Given the description of an element on the screen output the (x, y) to click on. 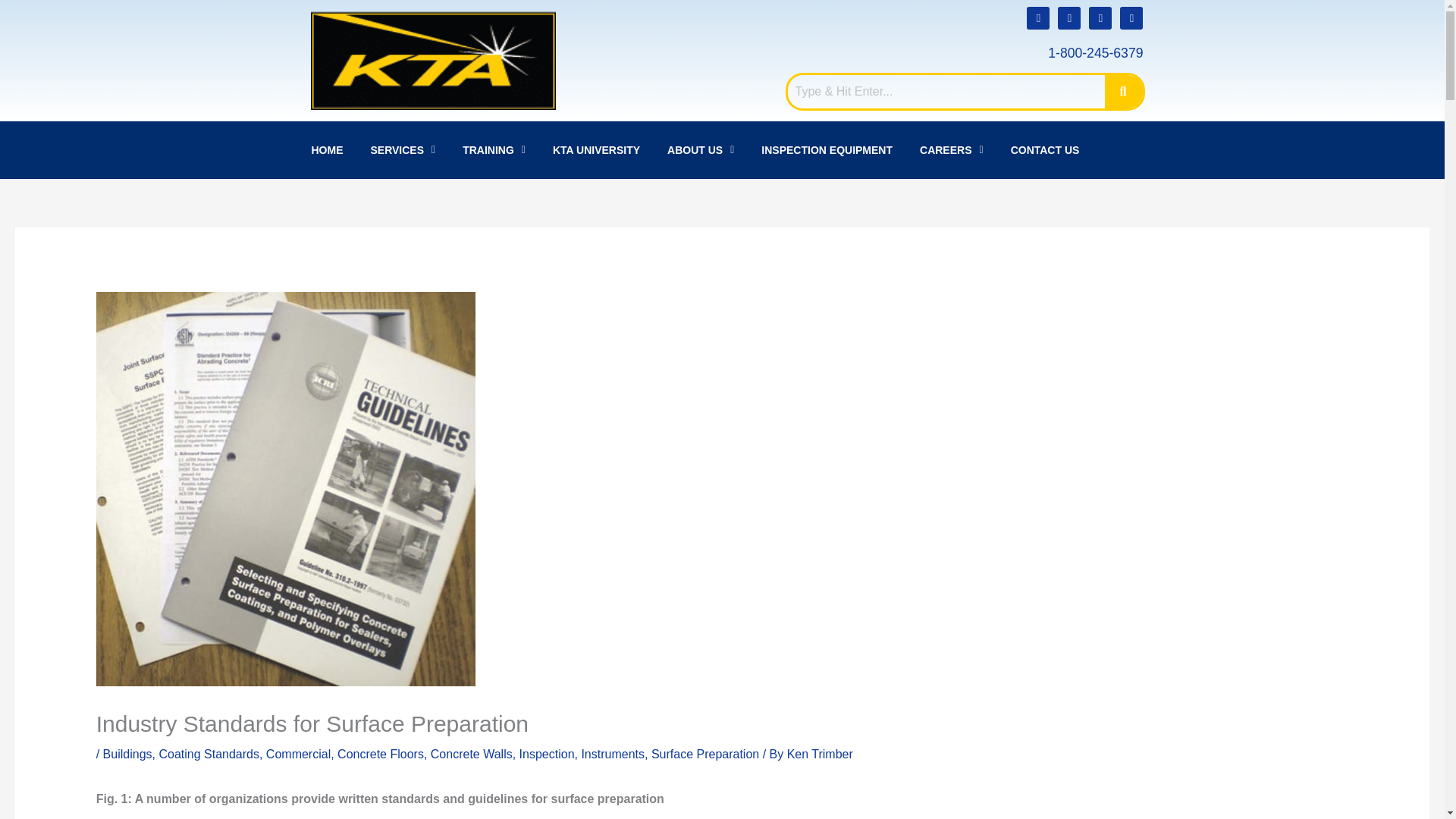
SERVICES (402, 149)
TRAINING (493, 149)
Facebook-f (1100, 17)
HOME (326, 149)
Twitter (1130, 17)
Youtube (1069, 17)
View all posts by Ken Trimber (820, 753)
ABOUT US (700, 149)
KTA UNIVERSITY (595, 149)
Linkedin (1037, 17)
Search (946, 91)
